Given the description of an element on the screen output the (x, y) to click on. 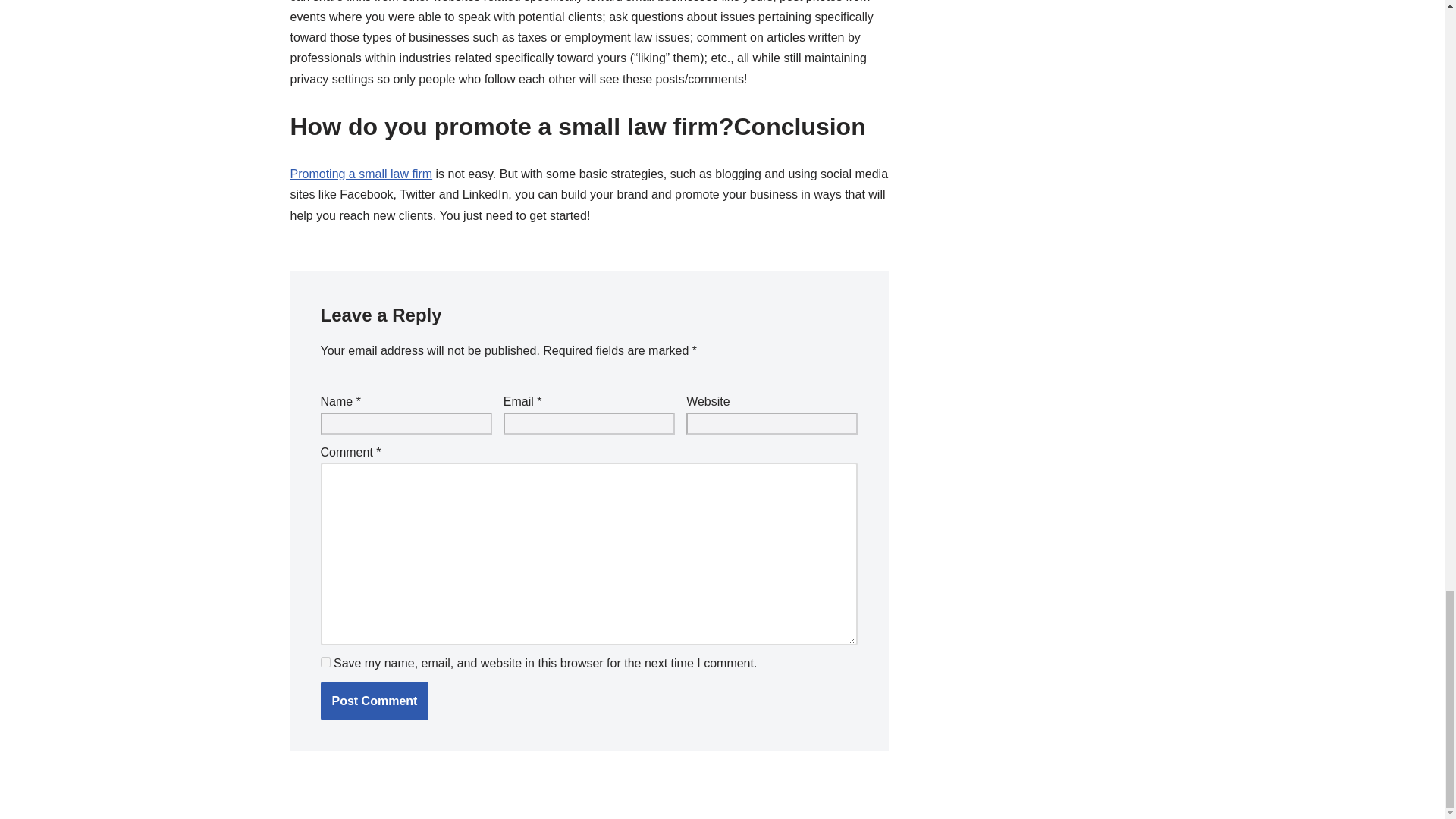
Post Comment (374, 701)
Post Comment (374, 701)
yes (325, 662)
Promoting a small law firm (360, 173)
